Given the description of an element on the screen output the (x, y) to click on. 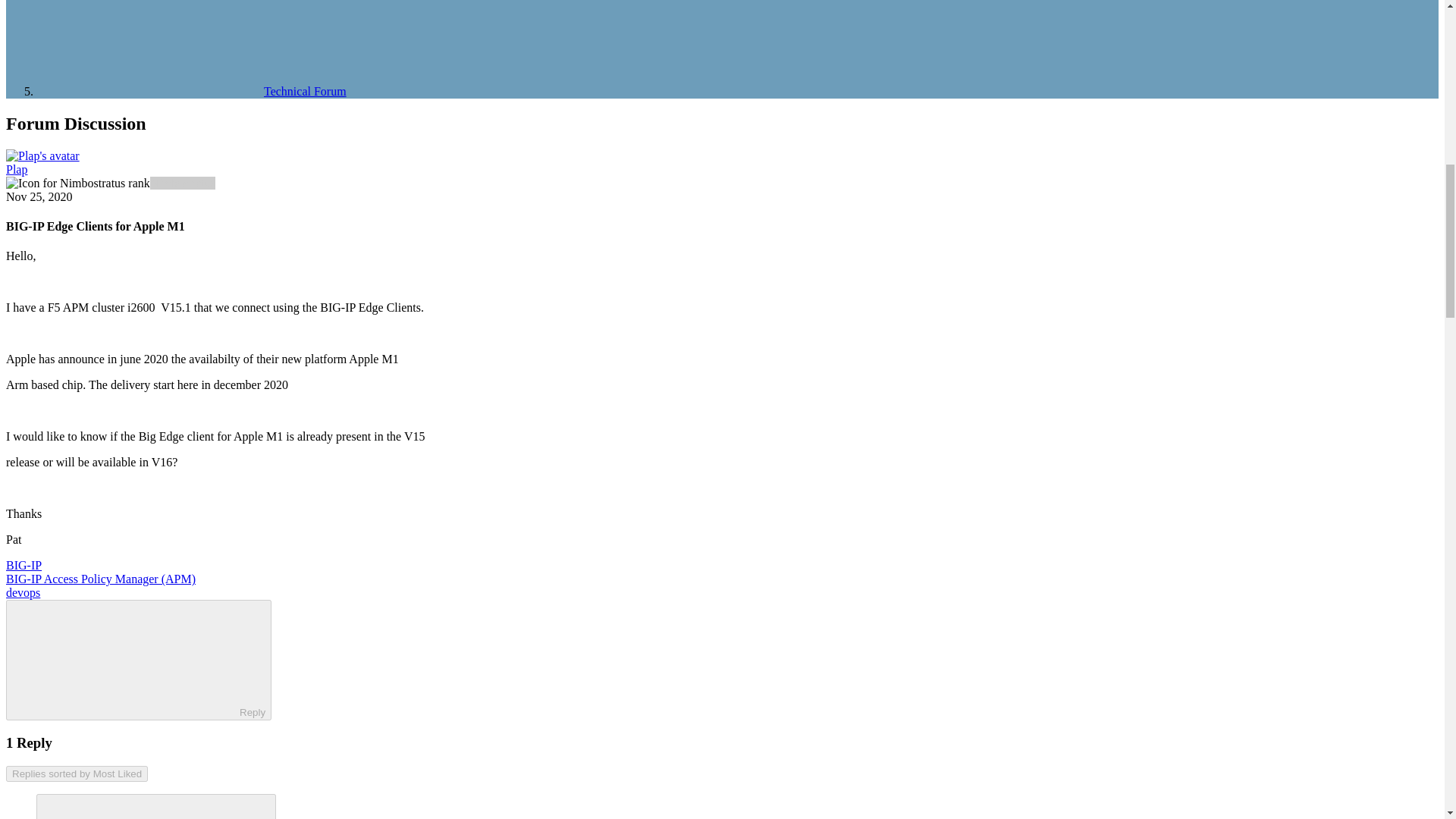
Reply (125, 658)
devops (22, 592)
BIG-IP (23, 564)
Replies sorted by Most Liked (76, 773)
Plap (16, 169)
ReplyReply (137, 659)
Technical Forum (191, 91)
November 25, 2020 at 2:23 PM (38, 196)
